Given the description of an element on the screen output the (x, y) to click on. 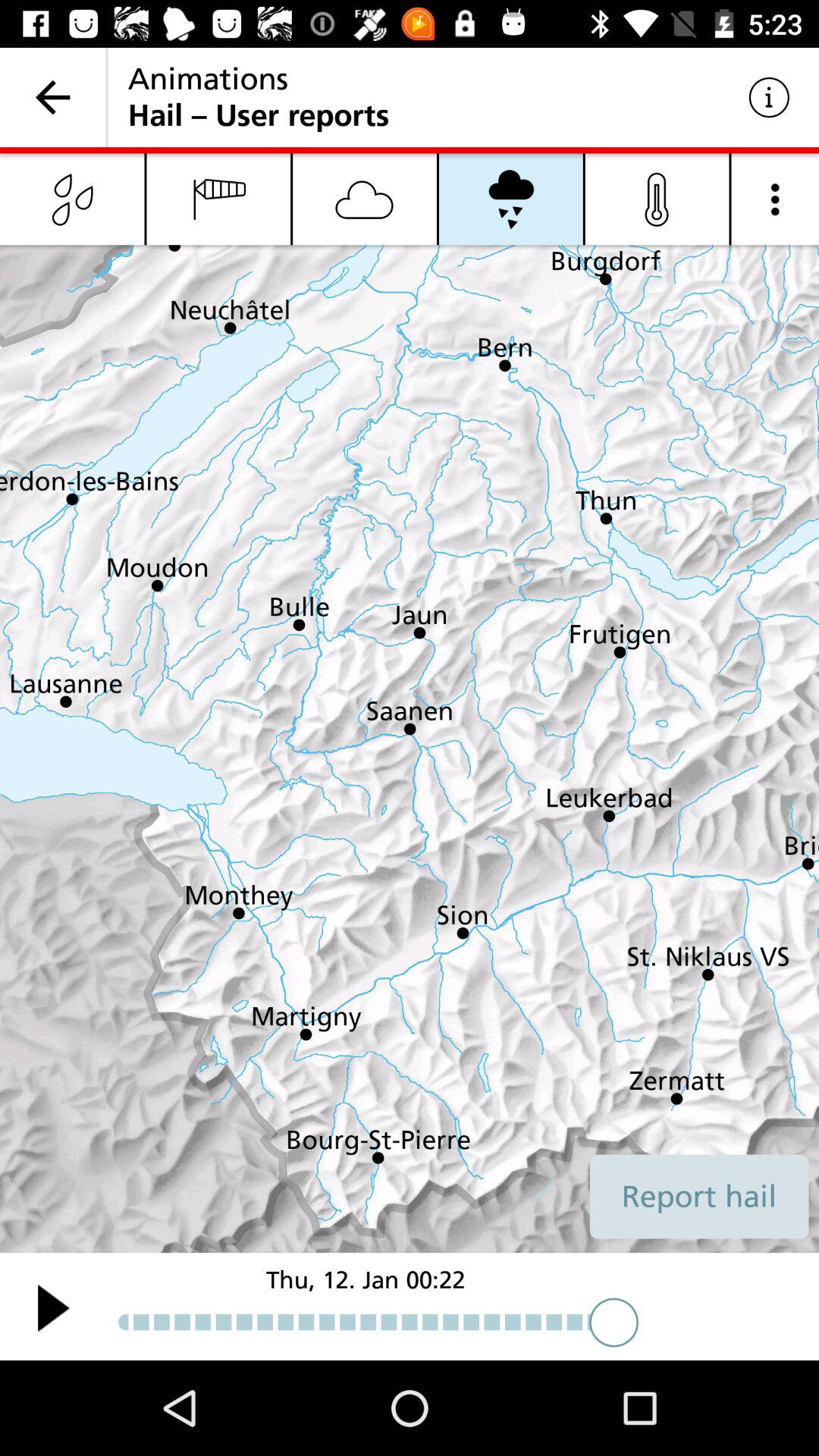
play button (53, 1307)
